Given the description of an element on the screen output the (x, y) to click on. 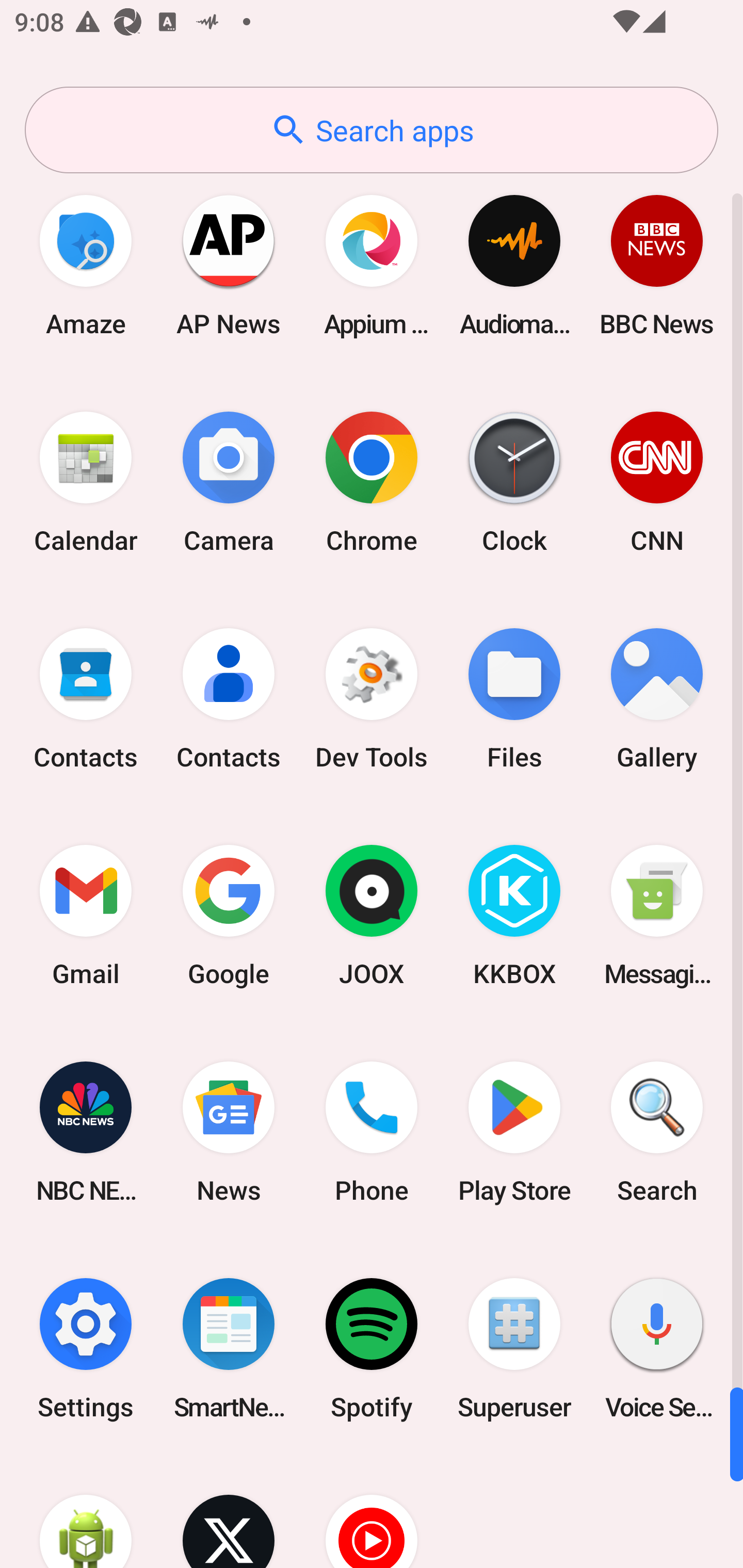
  Search apps (371, 130)
Amaze (85, 264)
AP News (228, 264)
Appium Settings (371, 264)
Audio­mack (514, 264)
BBC News (656, 264)
Calendar (85, 482)
Camera (228, 482)
Chrome (371, 482)
Clock (514, 482)
CNN (656, 482)
Contacts (85, 699)
Contacts (228, 699)
Dev Tools (371, 699)
Files (514, 699)
Gallery (656, 699)
Gmail (85, 915)
Google (228, 915)
JOOX (371, 915)
KKBOX (514, 915)
Messaging (656, 915)
NBC NEWS (85, 1131)
News (228, 1131)
Phone (371, 1131)
Play Store (514, 1131)
Search (656, 1131)
Settings (85, 1348)
SmartNews (228, 1348)
Spotify (371, 1348)
Superuser (514, 1348)
Voice Search (656, 1348)
